Given the description of an element on the screen output the (x, y) to click on. 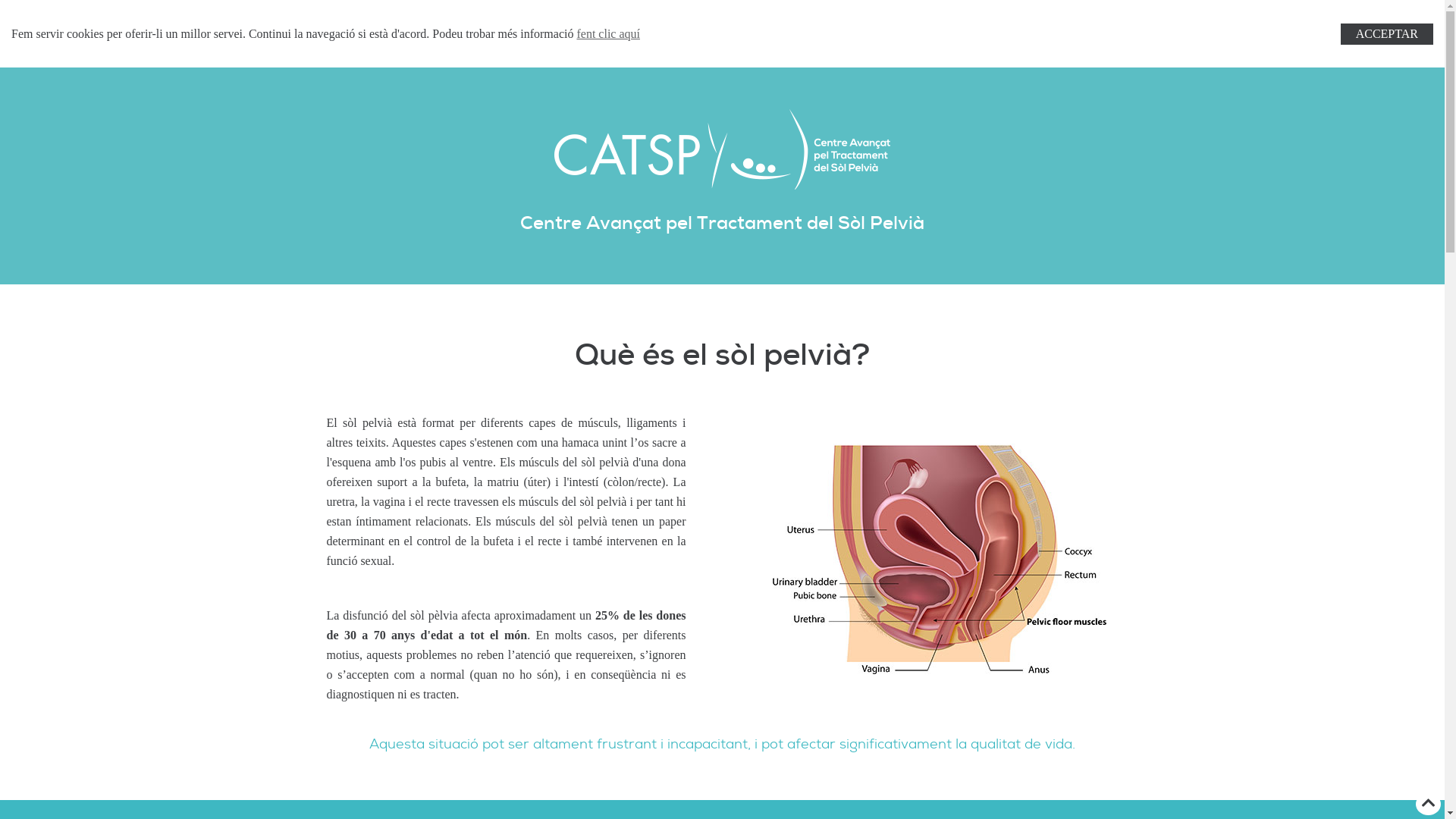
CENTRE Element type: text (641, 27)
english Element type: hover (916, 27)
INICI Element type: text (508, 27)
TRACTAMENTS Element type: text (570, 27)
ACCEPTAR Element type: text (1386, 33)
CONTACTE Element type: text (842, 27)
spanish Element type: hover (934, 27)
